Given the description of an element on the screen output the (x, y) to click on. 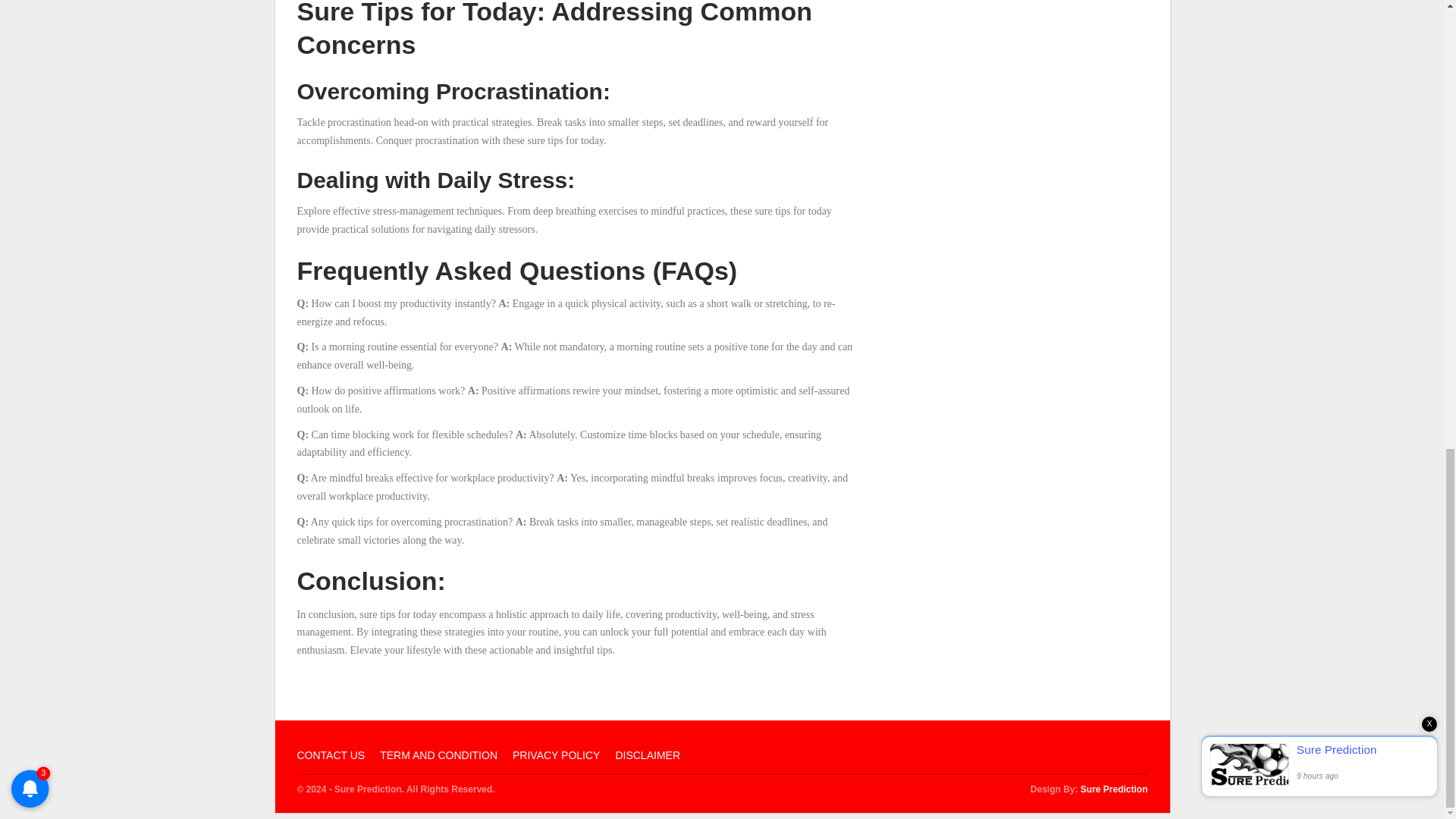
DISCLAIMER (646, 755)
TERM AND CONDITION (438, 755)
PRIVACY POLICY (555, 755)
Sure Prediction (1114, 788)
CONTACT US (331, 755)
